Given the description of an element on the screen output the (x, y) to click on. 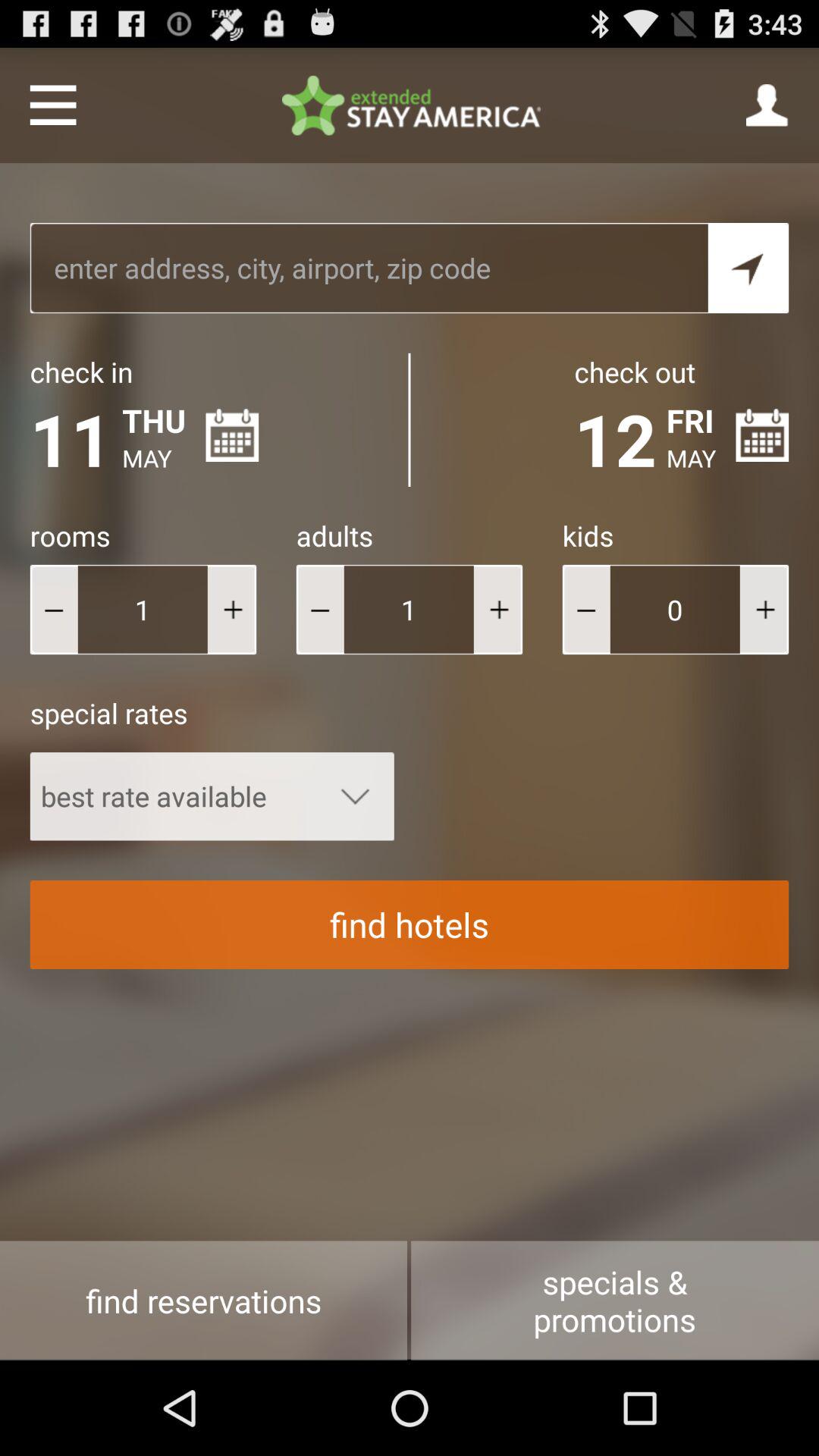
add more (763, 609)
